Given the description of an element on the screen output the (x, y) to click on. 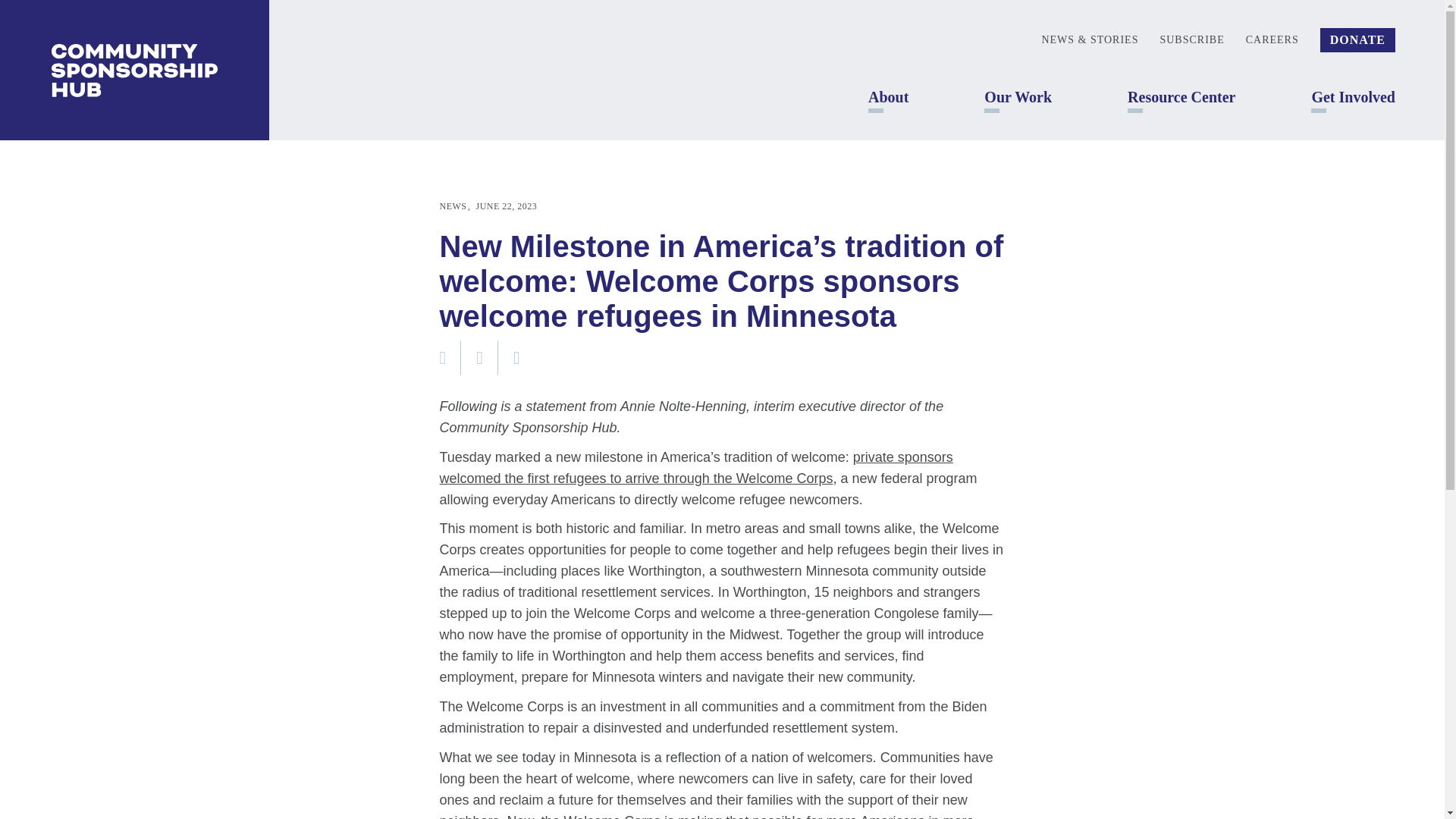
DONATE (1357, 39)
About (887, 96)
NEWS (454, 205)
Our Work (1017, 96)
CAREERS (1272, 39)
Resource Center (1180, 96)
Get Involved (1352, 96)
SUBSCRIBE (1191, 39)
